Given the description of an element on the screen output the (x, y) to click on. 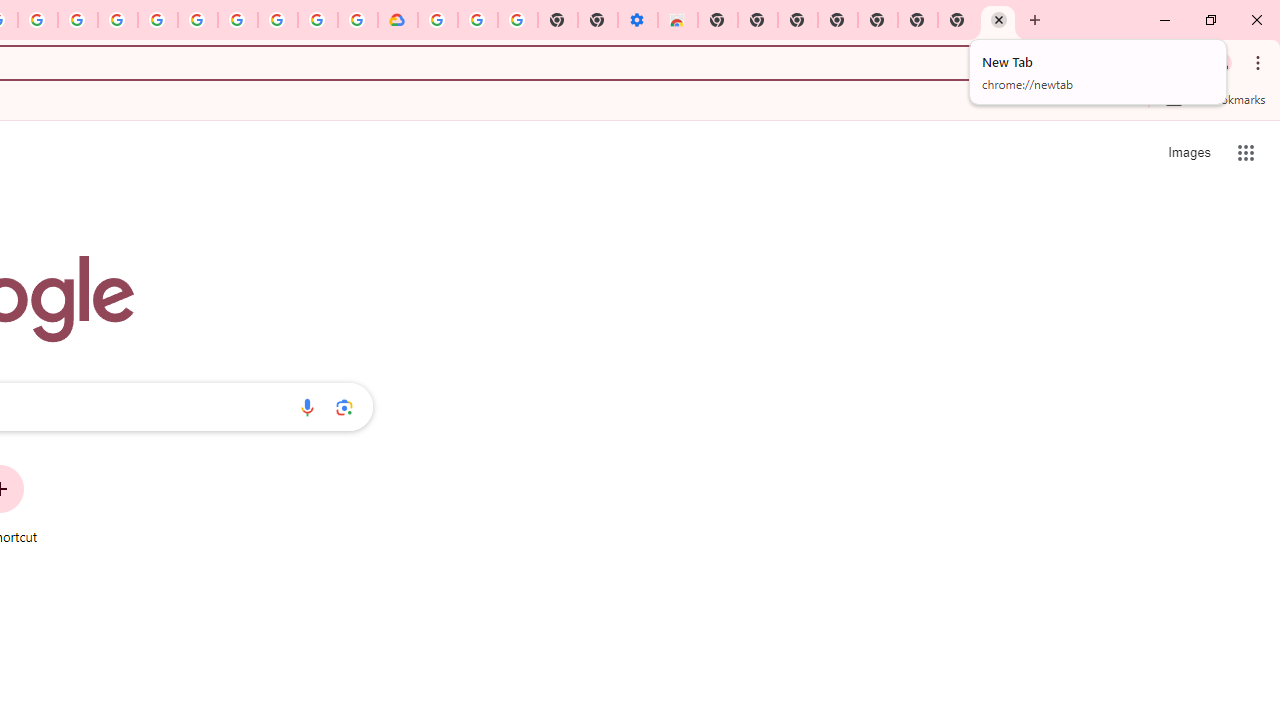
New Tab (997, 20)
New Tab (717, 20)
Ad Settings (118, 20)
Chrome Web Store - Accessibility extensions (677, 20)
Create your Google Account (317, 20)
